Given the description of an element on the screen output the (x, y) to click on. 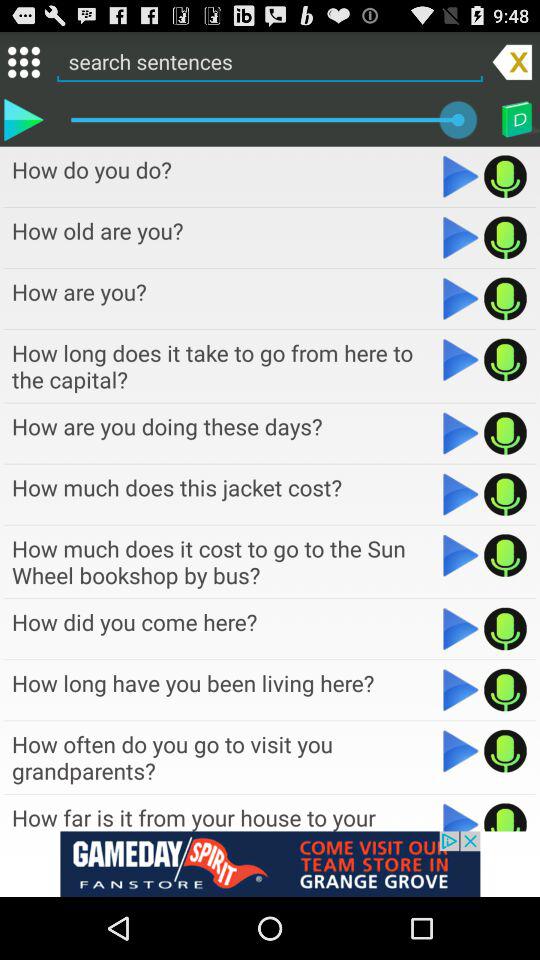
record your voice (505, 298)
